Given the description of an element on the screen output the (x, y) to click on. 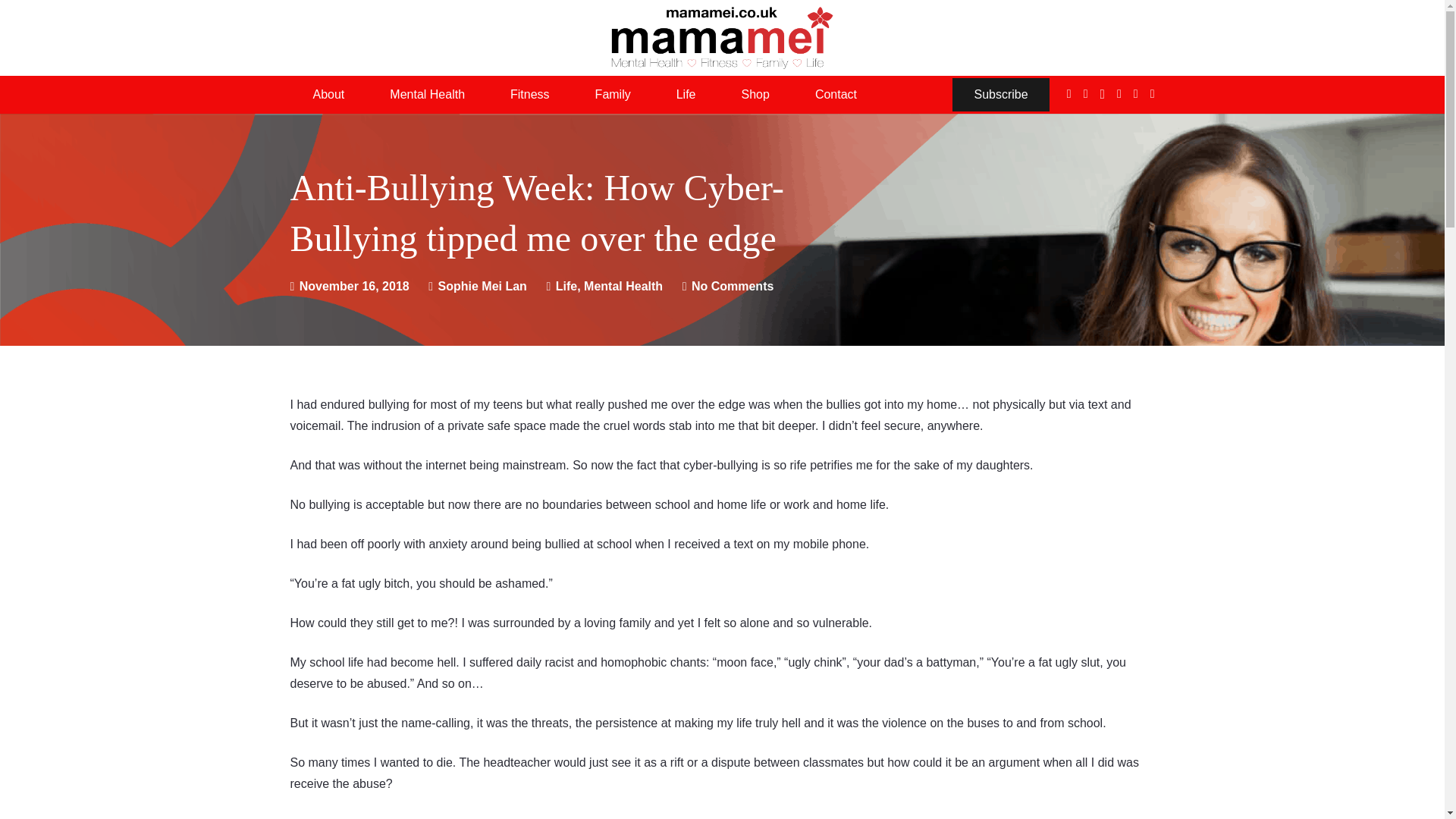
Subscribe (1000, 94)
About (327, 94)
YouTube (1136, 93)
Contact (835, 94)
Life (686, 94)
No Comments (732, 286)
Twitter (1085, 93)
Pinterest (1118, 93)
Mental Health (426, 94)
Facebook (1069, 93)
Instagram (1102, 94)
Sophie Mei Lan (482, 286)
Shop (755, 94)
No Comments (732, 286)
LinkedIn (1152, 93)
